Given the description of an element on the screen output the (x, y) to click on. 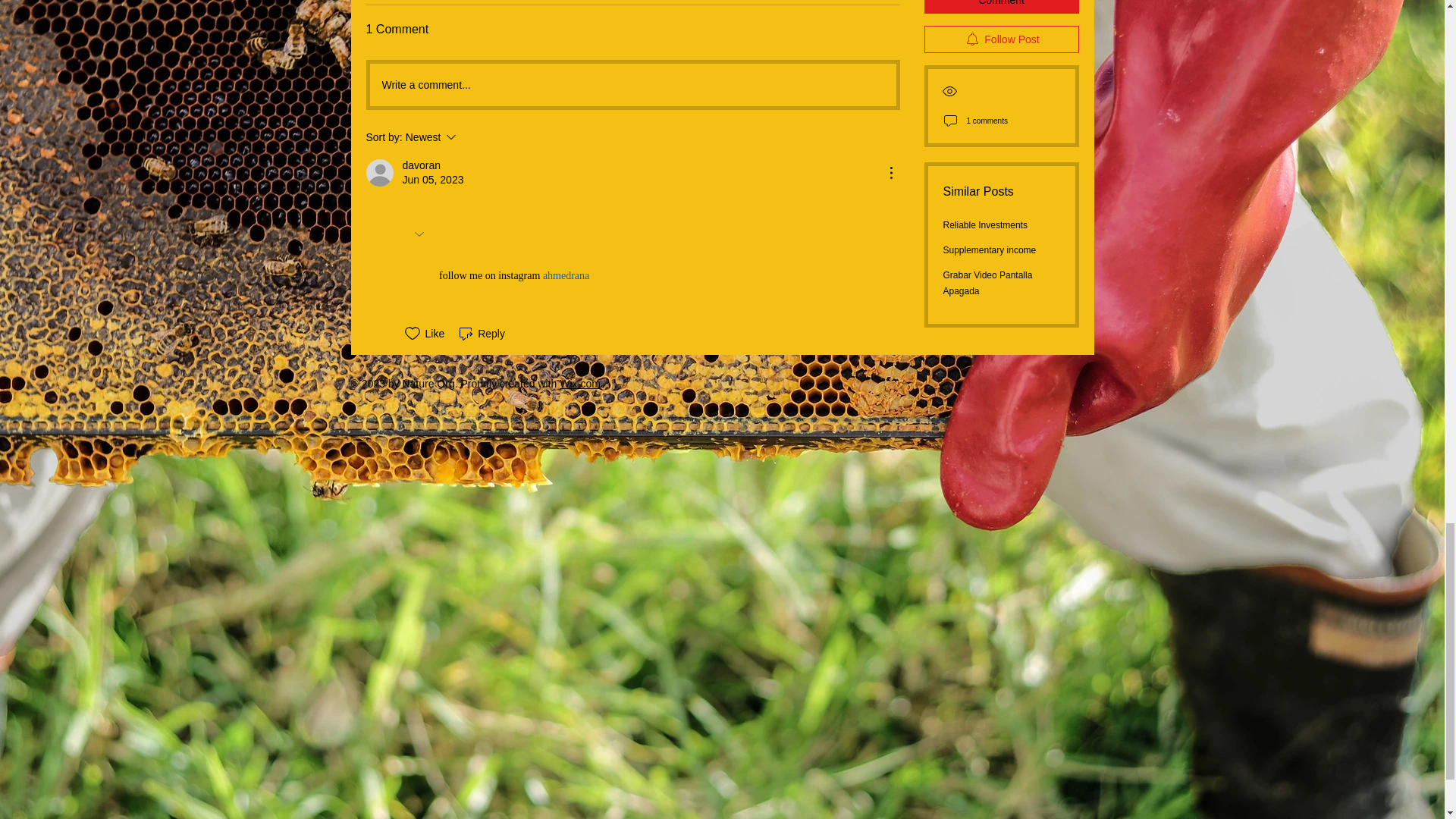
Write a comment... (632, 84)
davoran (471, 136)
ahmedrana (421, 165)
Reply (564, 275)
